Given the description of an element on the screen output the (x, y) to click on. 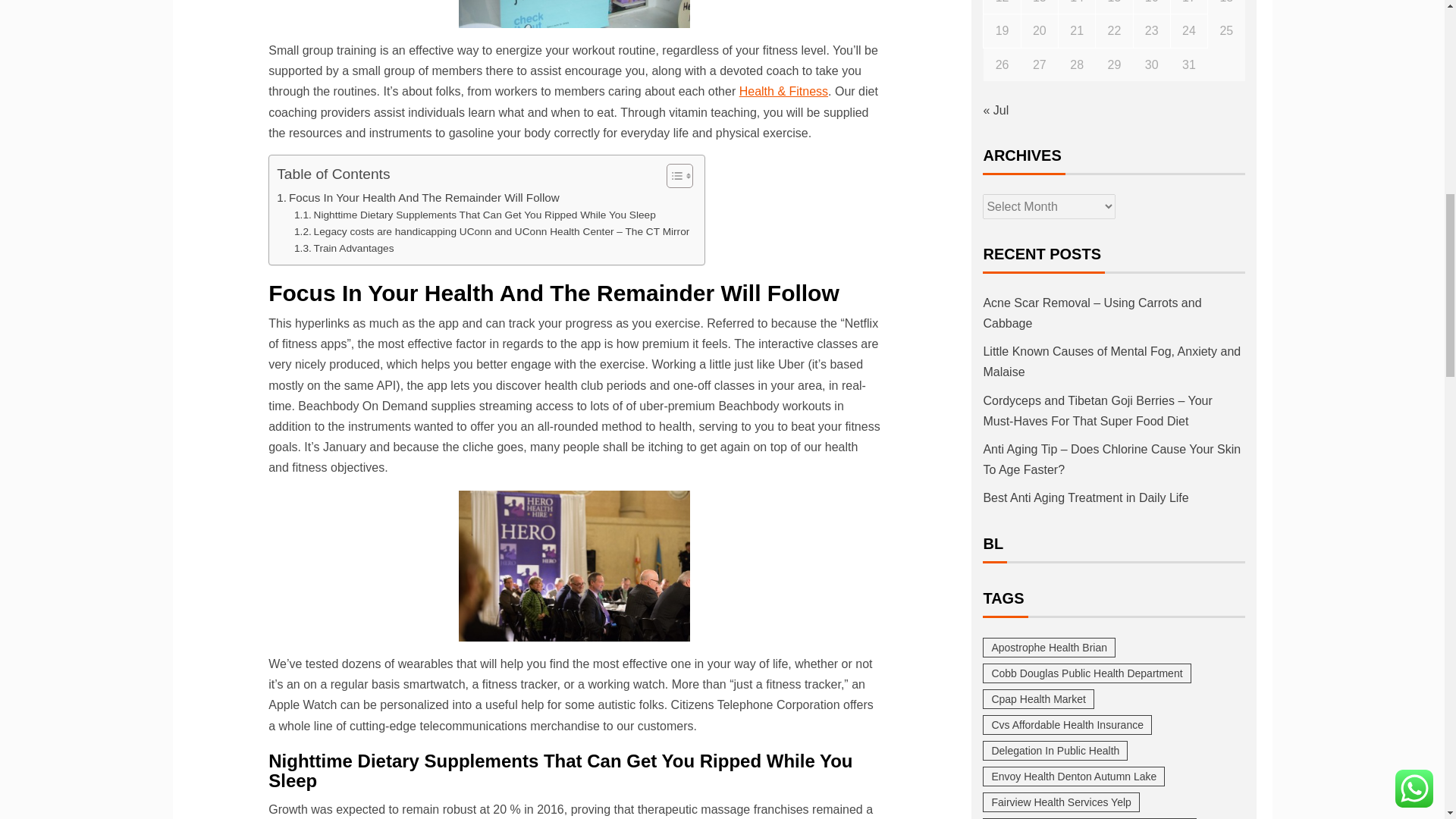
Focus In Your Health And The Remainder Will Follow (417, 198)
Train Advantages (343, 248)
Focus In Your Health And The Remainder Will Follow (417, 198)
